Given the description of an element on the screen output the (x, y) to click on. 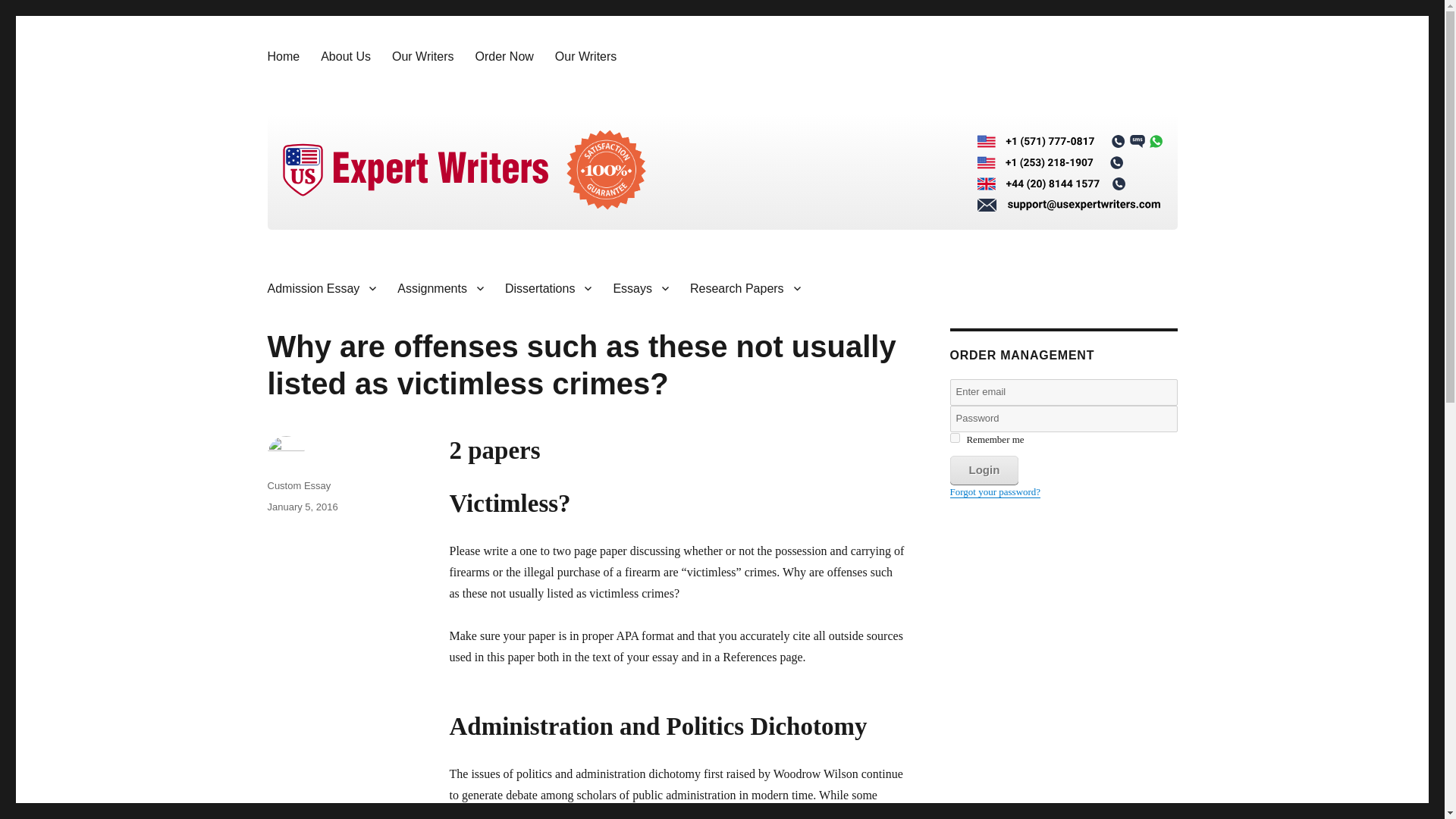
About Us (345, 56)
Recover password (995, 491)
Admission Essay (321, 287)
Essays (640, 287)
on (954, 438)
click to Login (983, 469)
Home (283, 56)
January 5, 2016 (301, 506)
Research Papers (744, 287)
Custom Essay (298, 485)
